Given the description of an element on the screen output the (x, y) to click on. 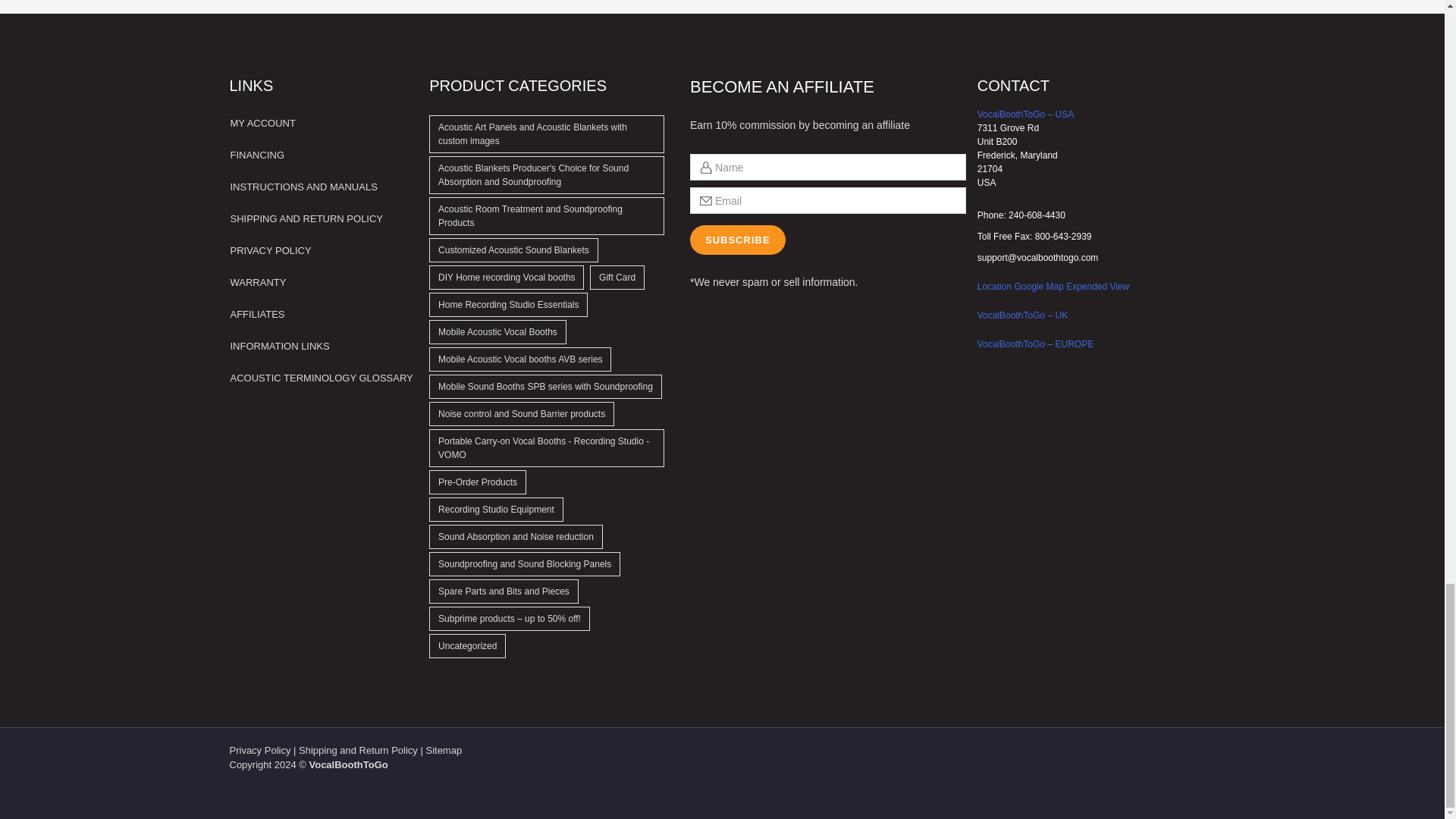
Subscribe (738, 239)
